Given the description of an element on the screen output the (x, y) to click on. 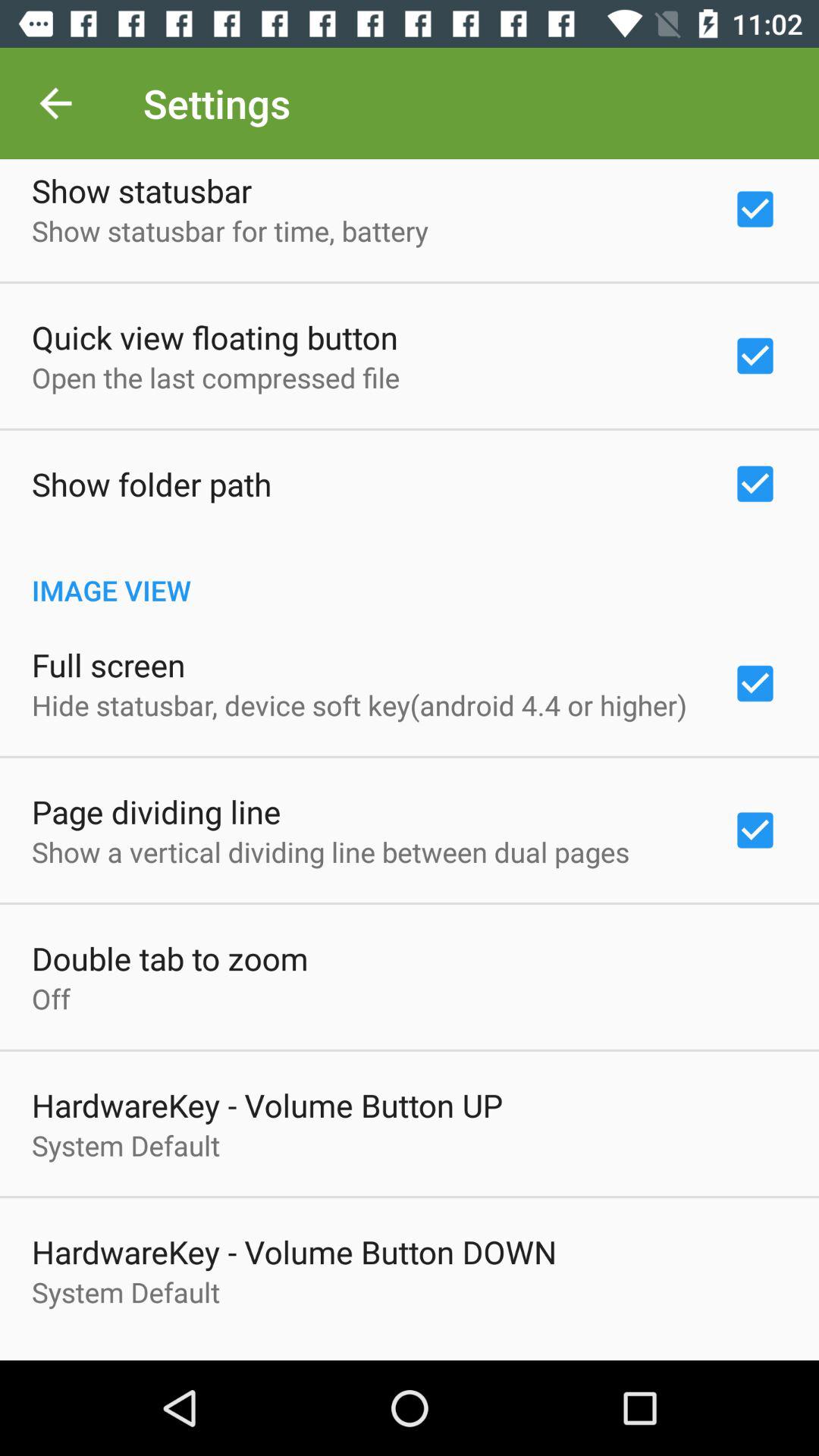
scroll until off icon (50, 998)
